Given the description of an element on the screen output the (x, y) to click on. 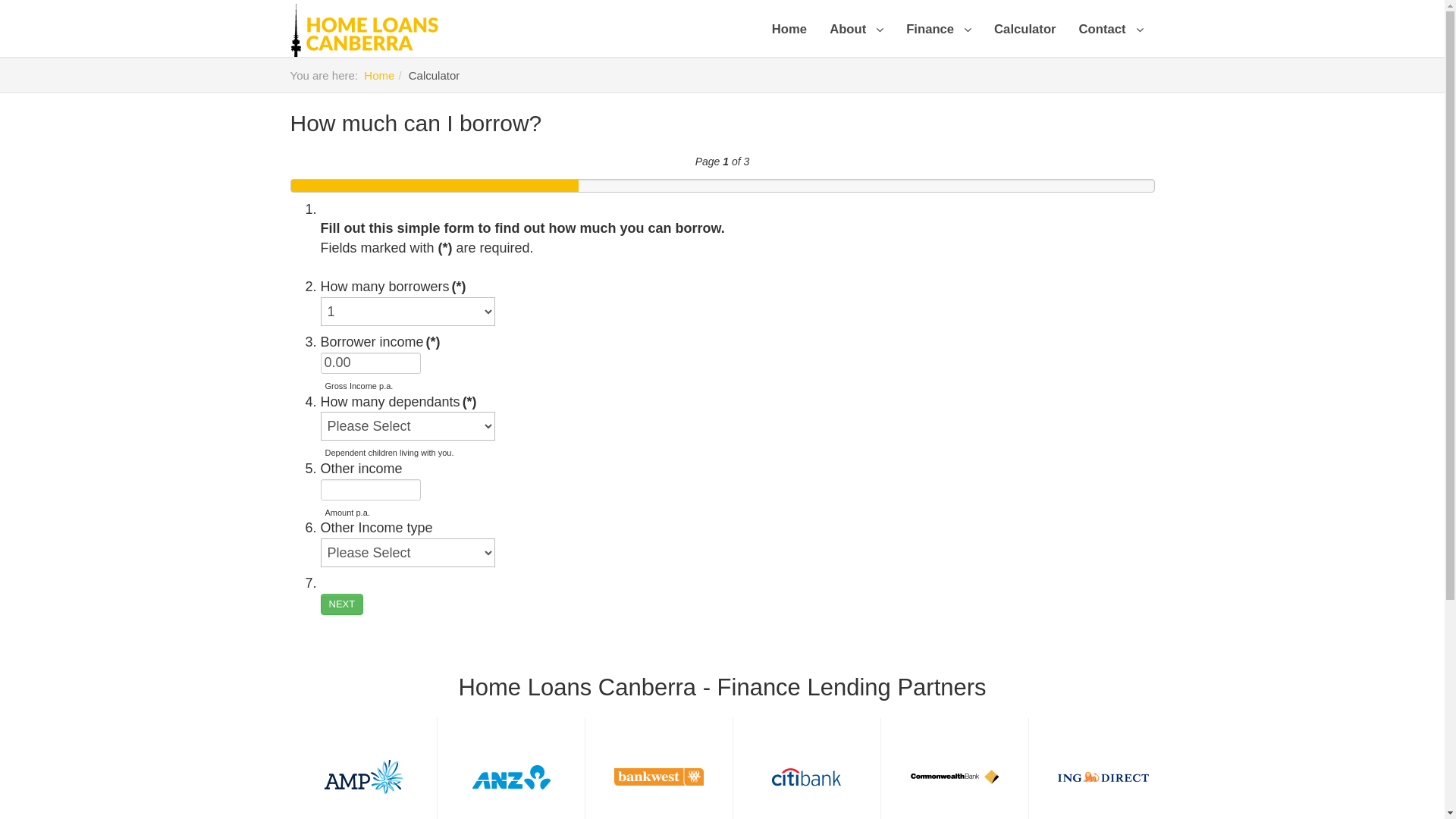
Finance Element type: text (938, 37)
About Element type: text (856, 37)
Contact Element type: text (1110, 37)
Home Element type: text (379, 75)
Home Loans Canberra Element type: hover (363, 31)
NEXT Element type: text (341, 604)
Calculator Element type: text (1024, 37)
Home Element type: text (789, 37)
